Given the description of an element on the screen output the (x, y) to click on. 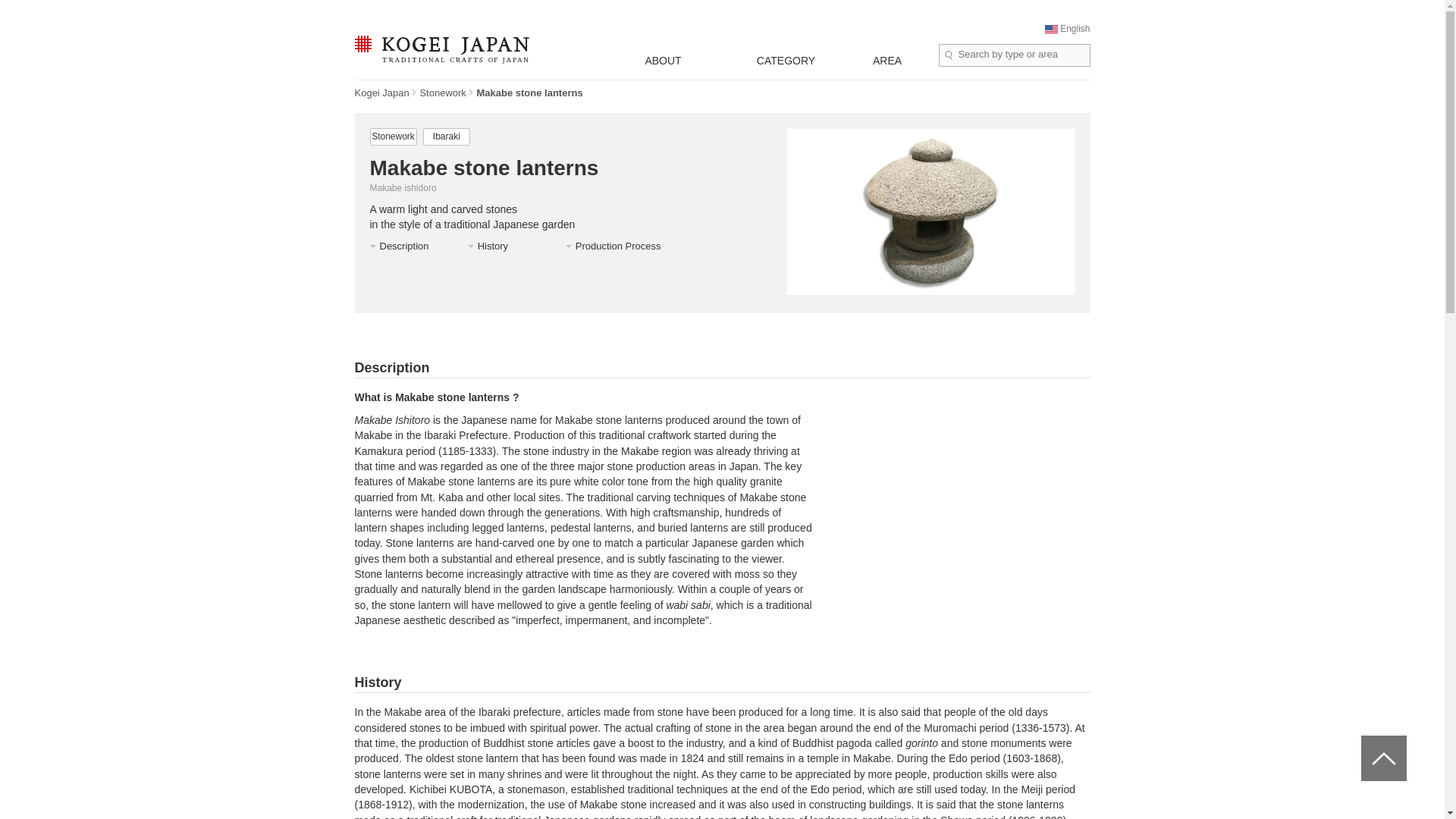
KOGEI JAPAN -Traditional crafts of Japan (442, 51)
ABOUT (663, 60)
CATEGORY (786, 60)
AREA (887, 60)
